Given the description of an element on the screen output the (x, y) to click on. 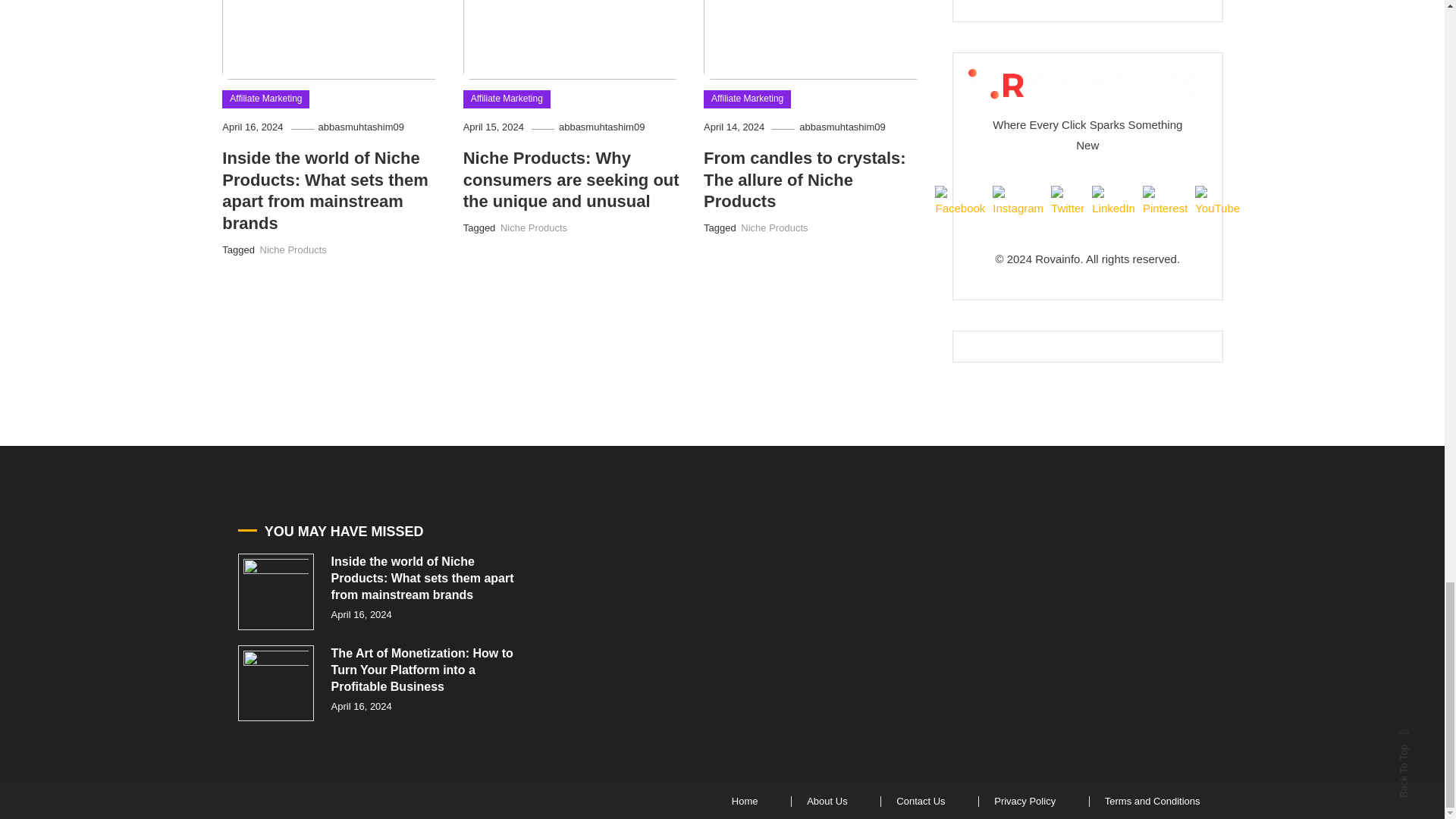
Affiliate Marketing (265, 99)
abbasmuhtashim09 (361, 126)
Niche Products (293, 249)
April 14, 2024 (733, 126)
Niche Products (533, 227)
Affiliate Marketing (506, 99)
abbasmuhtashim09 (842, 126)
April 15, 2024 (493, 126)
April 16, 2024 (252, 126)
Affiliate Marketing (746, 99)
From candles to crystals: The allure of Niche Products (804, 179)
